Given the description of an element on the screen output the (x, y) to click on. 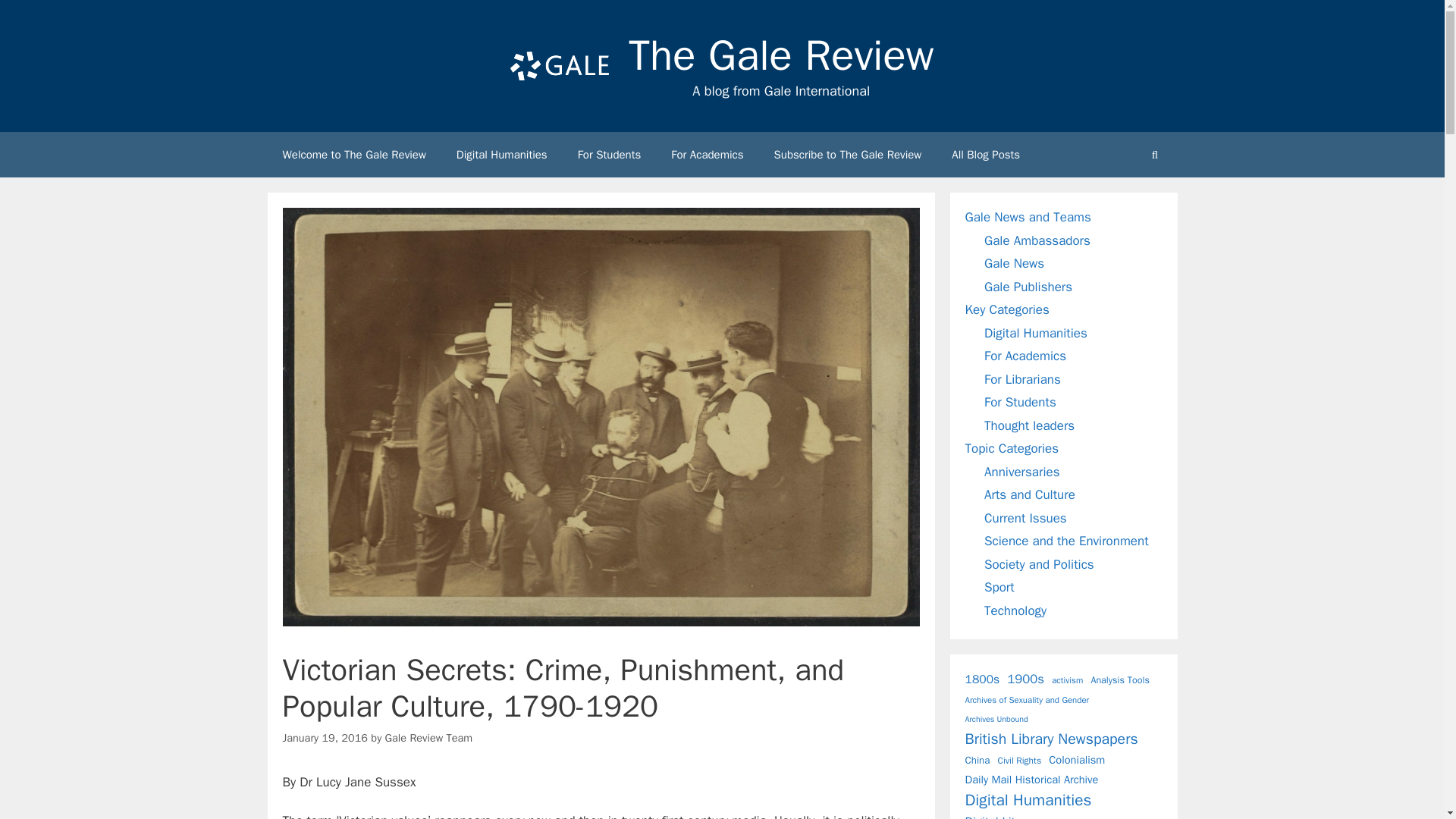
For Academics (707, 154)
Subscribe to The Gale Review (847, 154)
For Students (609, 154)
The Gale Review (781, 55)
Gale Review Team (429, 737)
Digital Humanities (1035, 333)
Gale Ambassadors (1037, 240)
All Blog Posts (985, 154)
Welcome to The Gale Review (353, 154)
For Librarians (1022, 379)
